Given the description of an element on the screen output the (x, y) to click on. 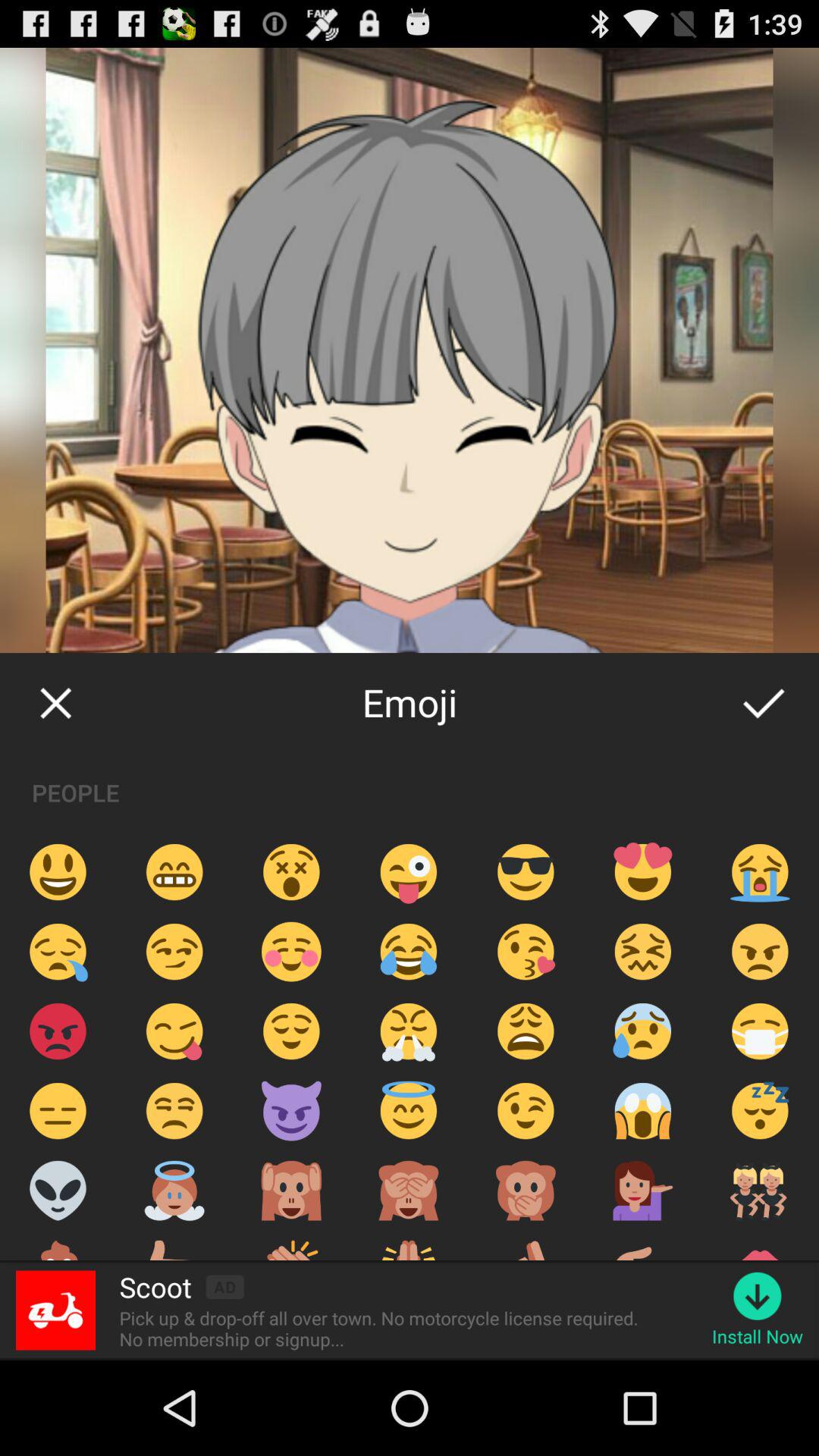
press item next to the emoji (763, 702)
